Given the description of an element on the screen output the (x, y) to click on. 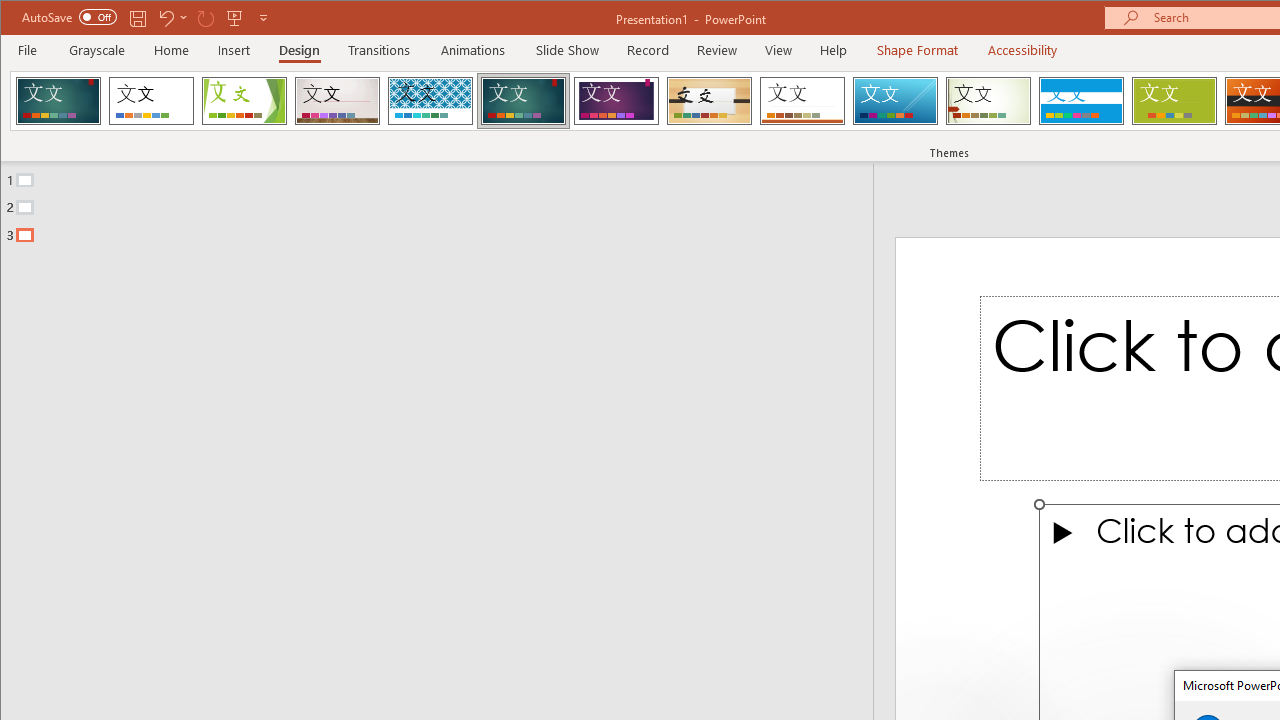
Retrospect (802, 100)
